Given the description of an element on the screen output the (x, y) to click on. 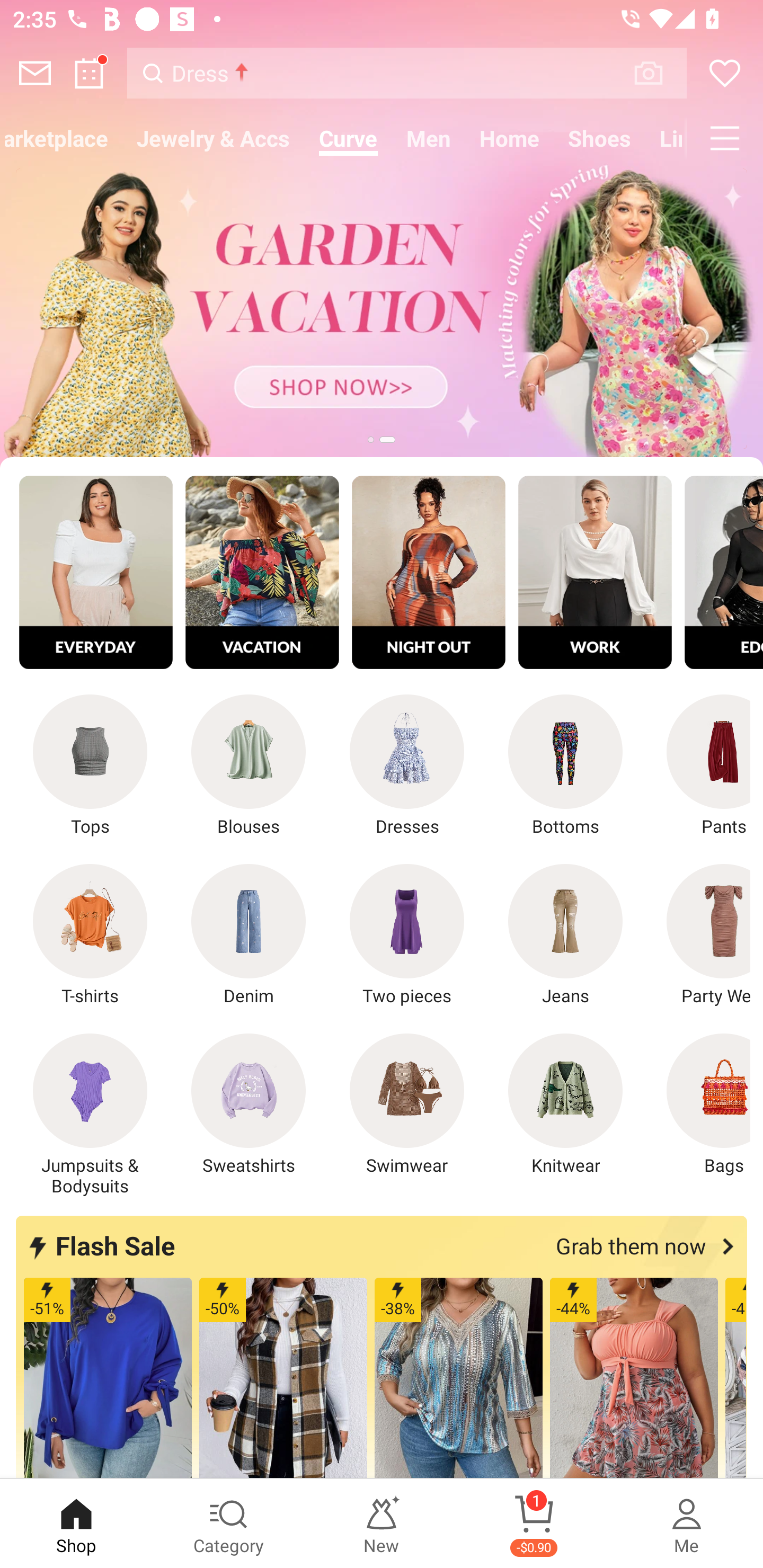
Wishlist (724, 72)
VISUAL SEARCH (657, 72)
Marketplace (61, 137)
Jewelry & Accs (213, 137)
Curve (348, 137)
Men (428, 137)
Home (509, 137)
Shoes (599, 137)
Tops (89, 765)
Blouses (248, 765)
Dresses (406, 765)
Bottoms (565, 765)
Pants (698, 765)
T-shirts (89, 934)
Denim (248, 934)
Two pieces (406, 934)
Jeans (565, 934)
Party Wear (698, 934)
Jumpsuits & Bodysuits (89, 1114)
Sweatshirts (248, 1104)
Swimwear (406, 1104)
Knitwear (565, 1104)
Bags (698, 1104)
Category (228, 1523)
New (381, 1523)
Cart 1 -$0.90 (533, 1523)
Me (686, 1523)
